Given the description of an element on the screen output the (x, y) to click on. 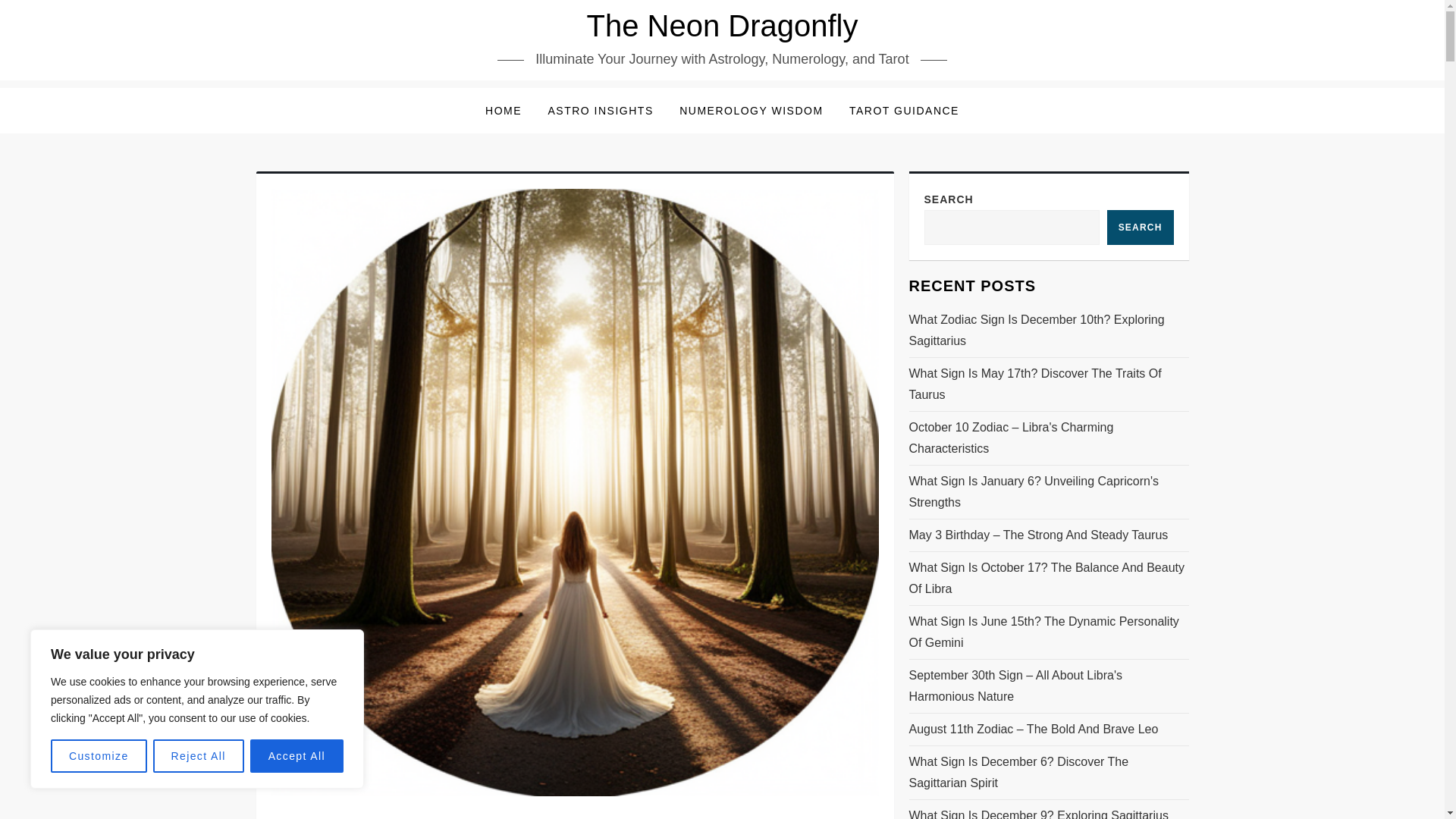
ASTRO INSIGHTS (601, 110)
Customize (98, 756)
NUMEROLOGY WISDOM (751, 110)
HOME (503, 110)
Reject All (198, 756)
Accept All (296, 756)
TAROT GUIDANCE (904, 110)
The Neon Dragonfly (722, 25)
